Given the description of an element on the screen output the (x, y) to click on. 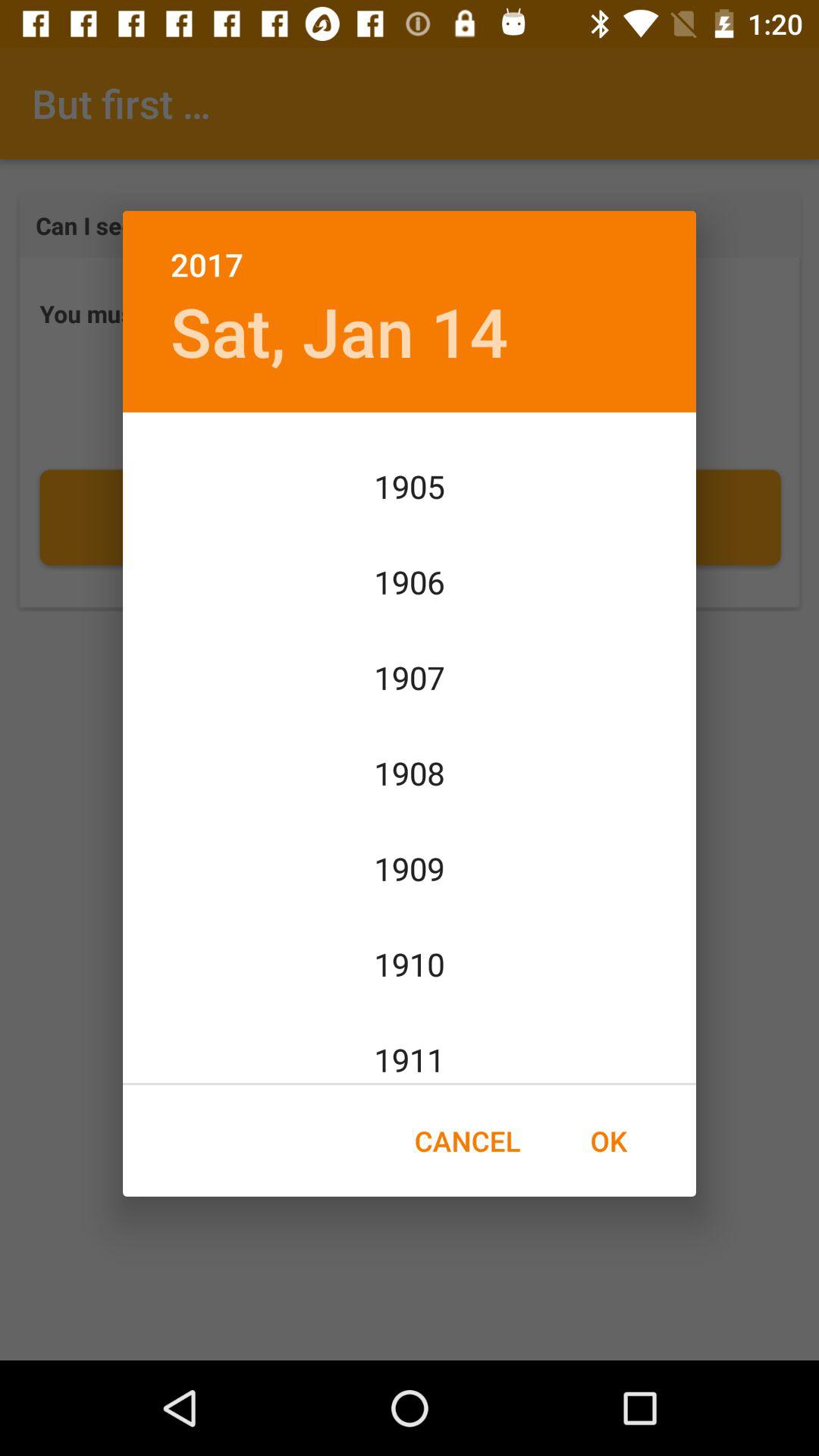
choose the cancel (467, 1140)
